Given the description of an element on the screen output the (x, y) to click on. 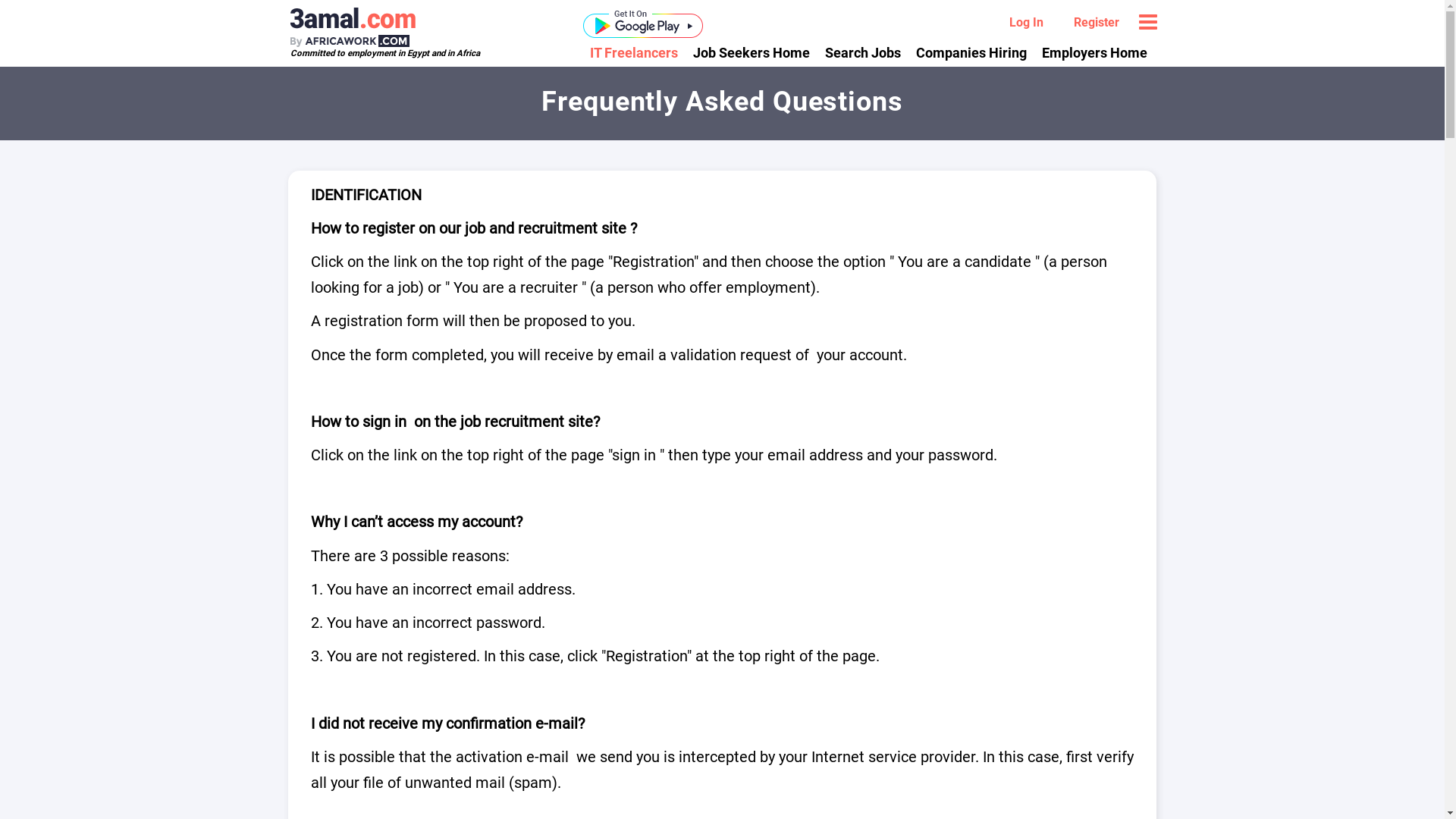
Committed to employment in Egypt and in Africa Element type: hover (397, 26)
Log In Element type: text (1025, 22)
IT Freelancers Element type: text (637, 51)
Committed to employment in Egypt and in Africa Element type: hover (397, 27)
Search Jobs Element type: text (862, 51)
Committed to employment in Egypt and in Africa Element type: text (384, 52)
Job Seekers Home Element type: text (751, 51)
Companies Hiring Element type: text (971, 51)
Employers Home Element type: text (1094, 51)
Register Element type: text (1095, 22)
Download our free jobs App on Google Play Element type: hover (642, 22)
